Given the description of an element on the screen output the (x, y) to click on. 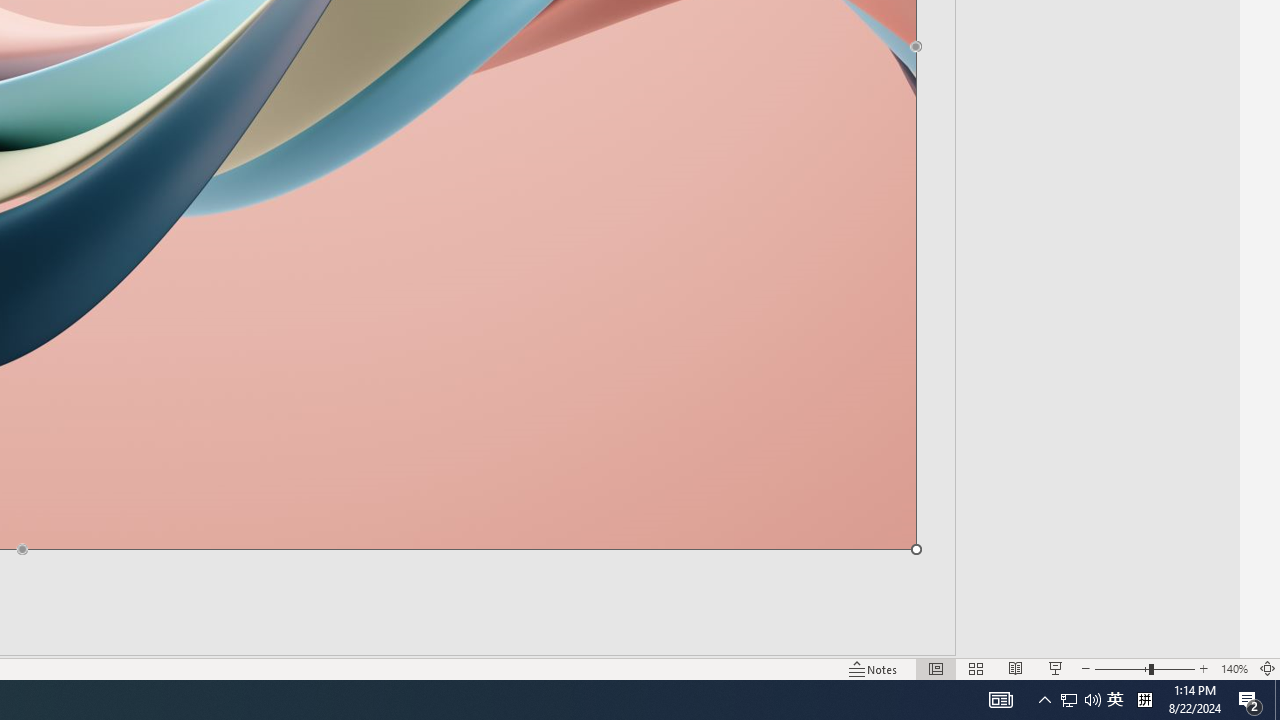
Zoom 140% (1234, 668)
